Given the description of an element on the screen output the (x, y) to click on. 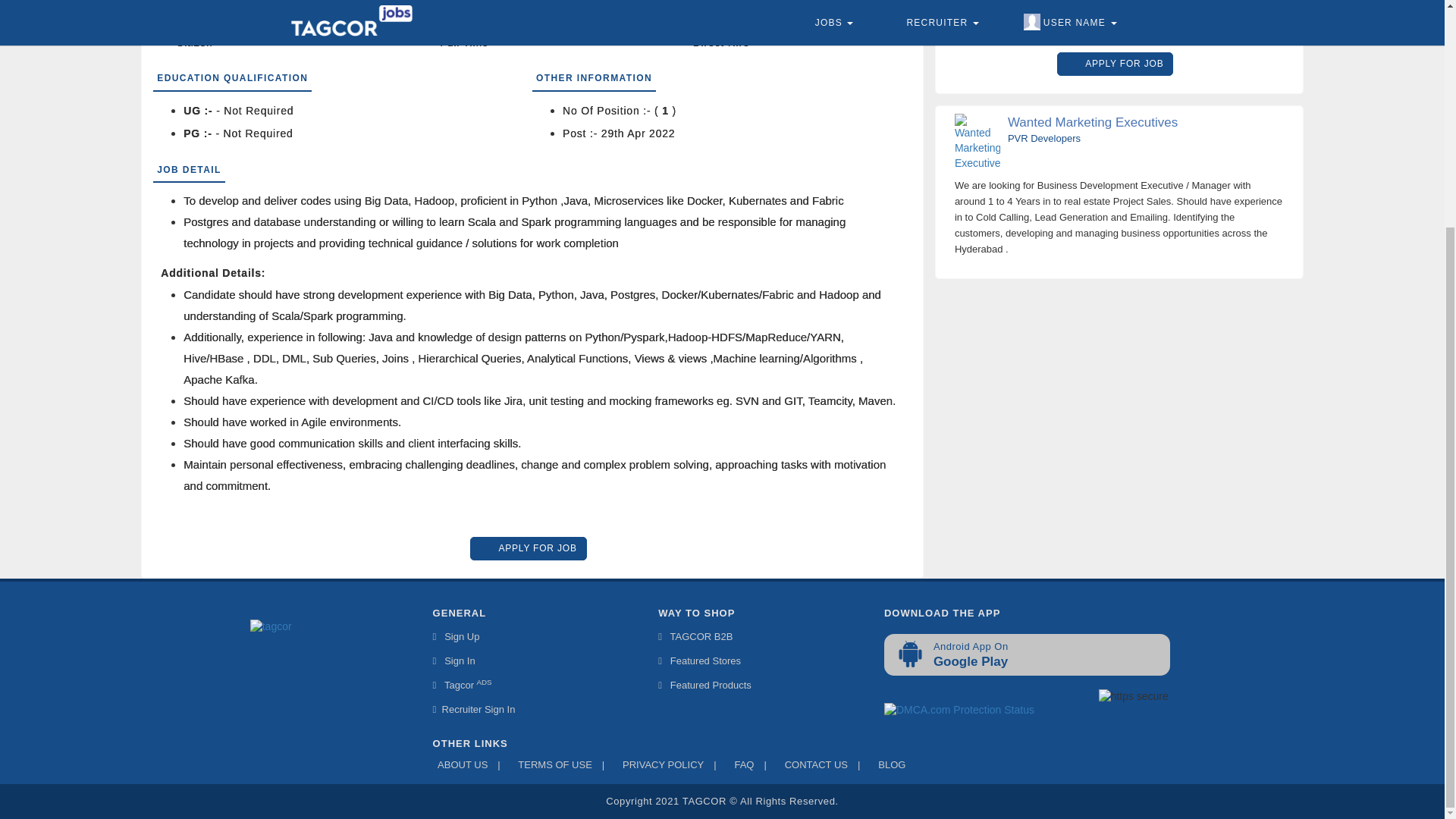
 Recruiter Sign In (473, 711)
  Sign In (454, 662)
Instagram (251, 671)
  Featured Products (704, 687)
Twitter (331, 671)
  ABOUT US (459, 766)
APPLY FOR JOB (528, 548)
APPLY FOR JOB (1118, 62)
  Sign Up (456, 638)
